Given the description of an element on the screen output the (x, y) to click on. 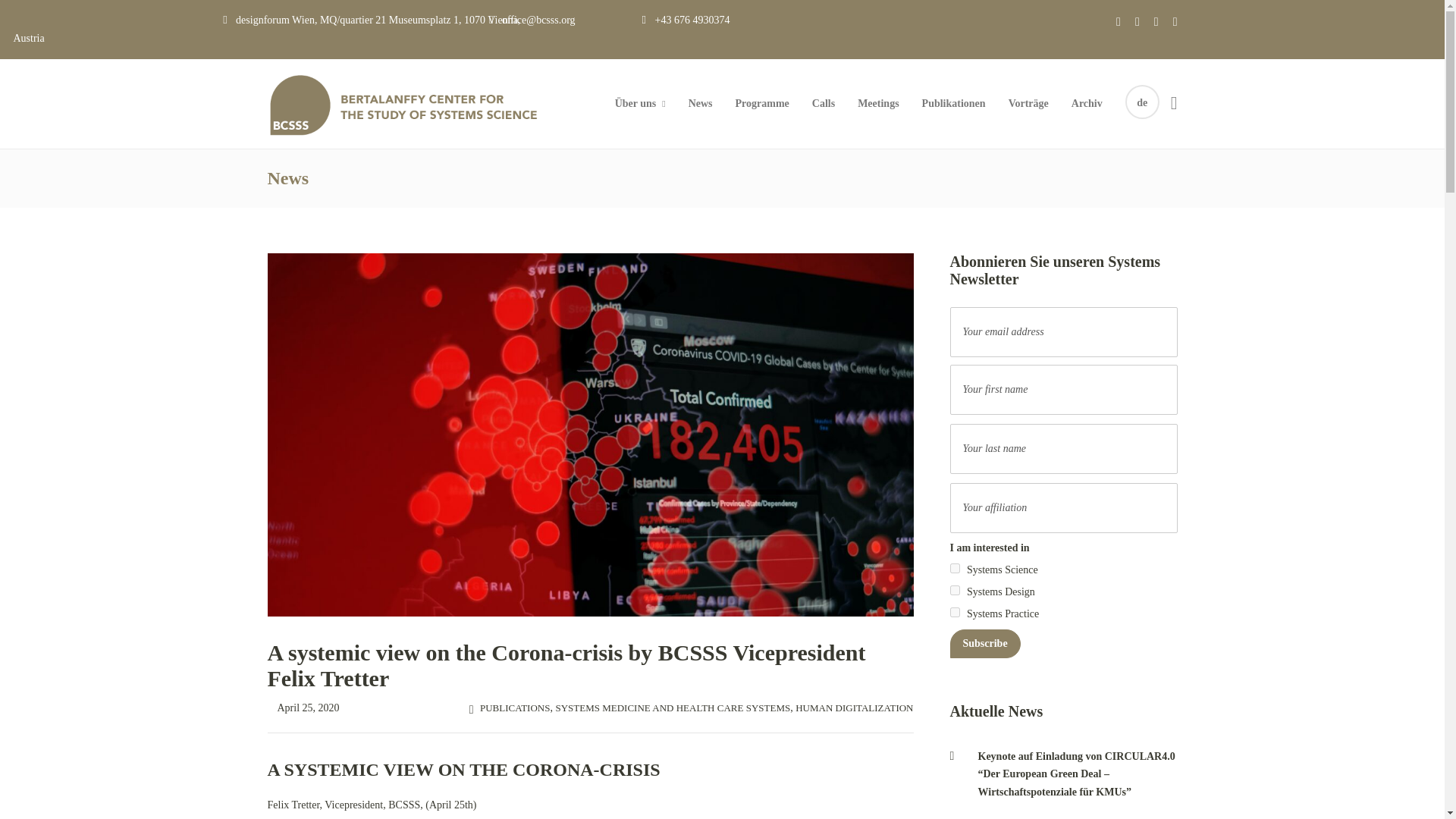
Subscribe (984, 643)
ac59af08a0 (954, 590)
35a1a864b1 (954, 568)
47e8933bb0 (954, 612)
